Given the description of an element on the screen output the (x, y) to click on. 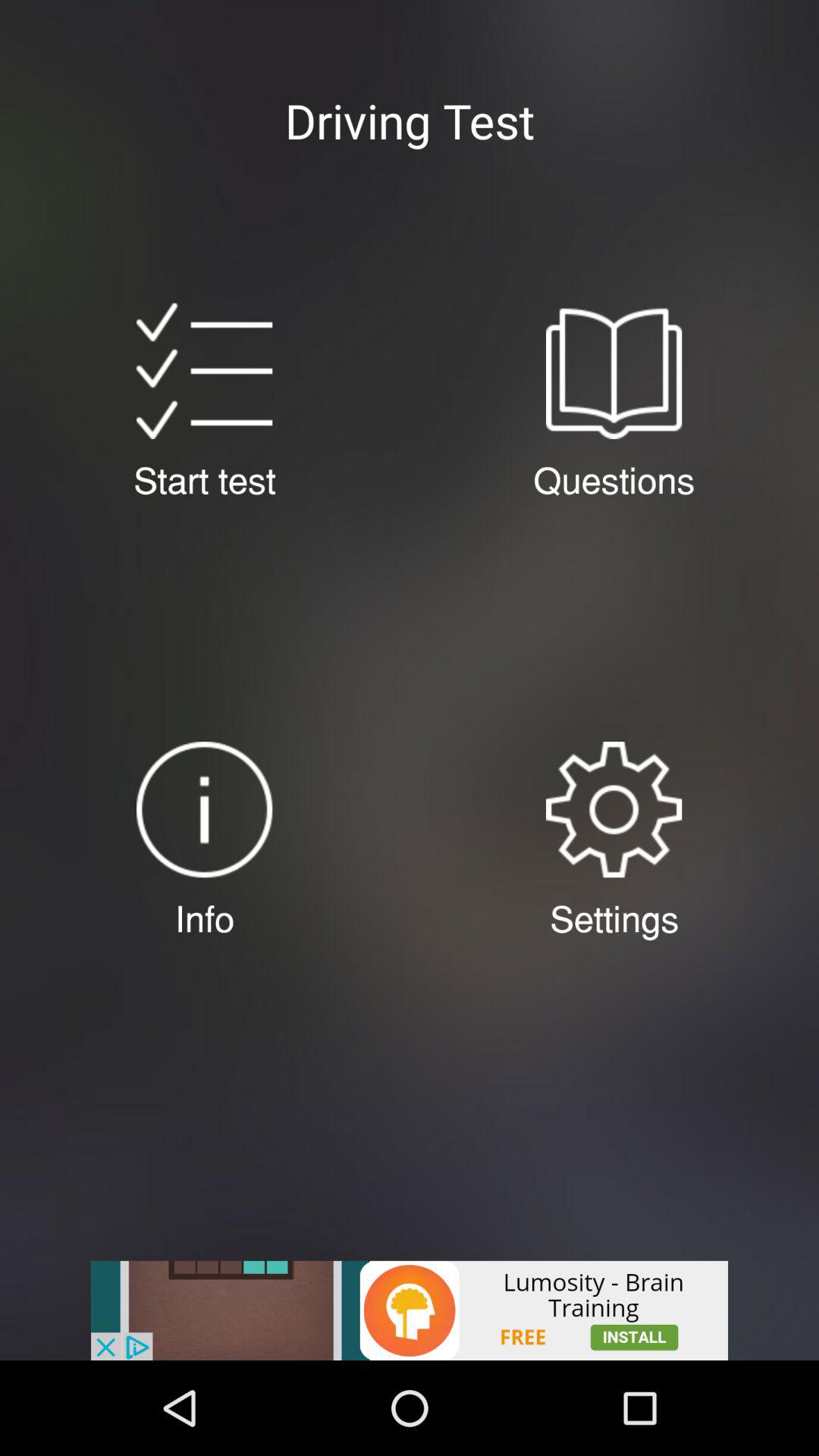
go to settings (613, 809)
